Given the description of an element on the screen output the (x, y) to click on. 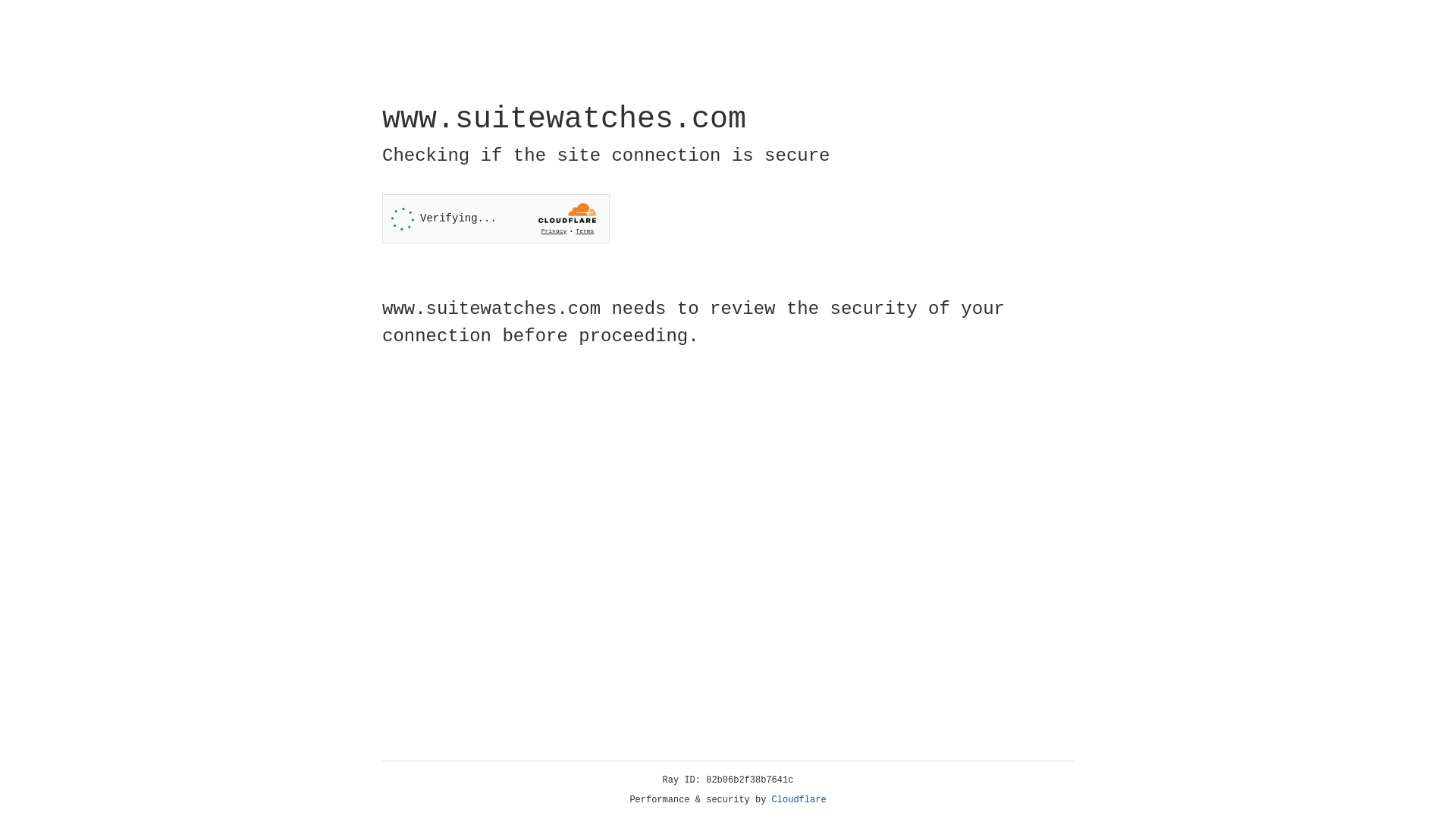
Widget containing a Cloudflare security challenge Element type: hover (495, 218)
Cloudflare Element type: text (165, 107)
